Given the description of an element on the screen output the (x, y) to click on. 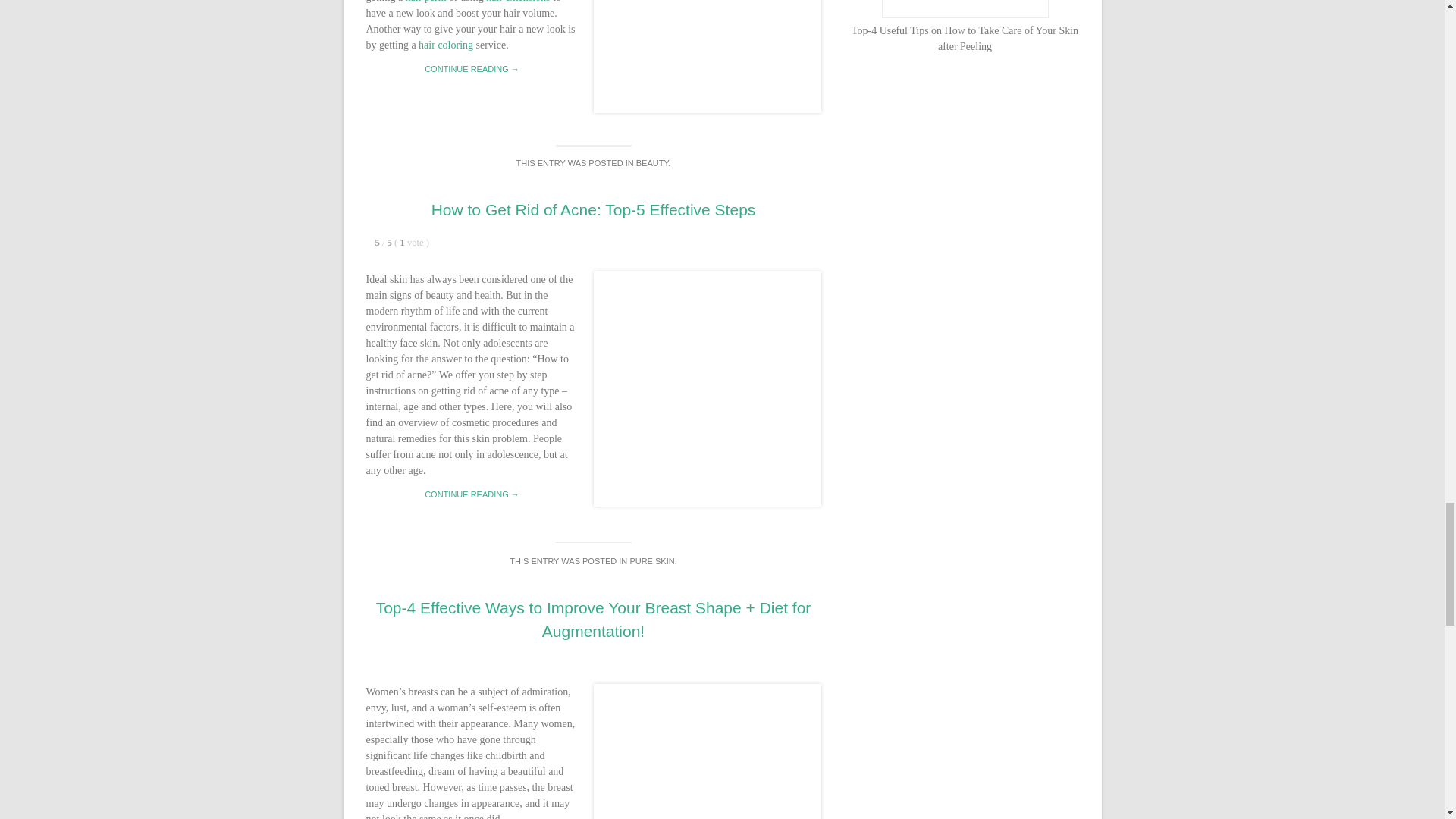
hair perm (426, 1)
hair extensions (518, 1)
hair coloring (446, 44)
BEAUTY (652, 162)
